Given the description of an element on the screen output the (x, y) to click on. 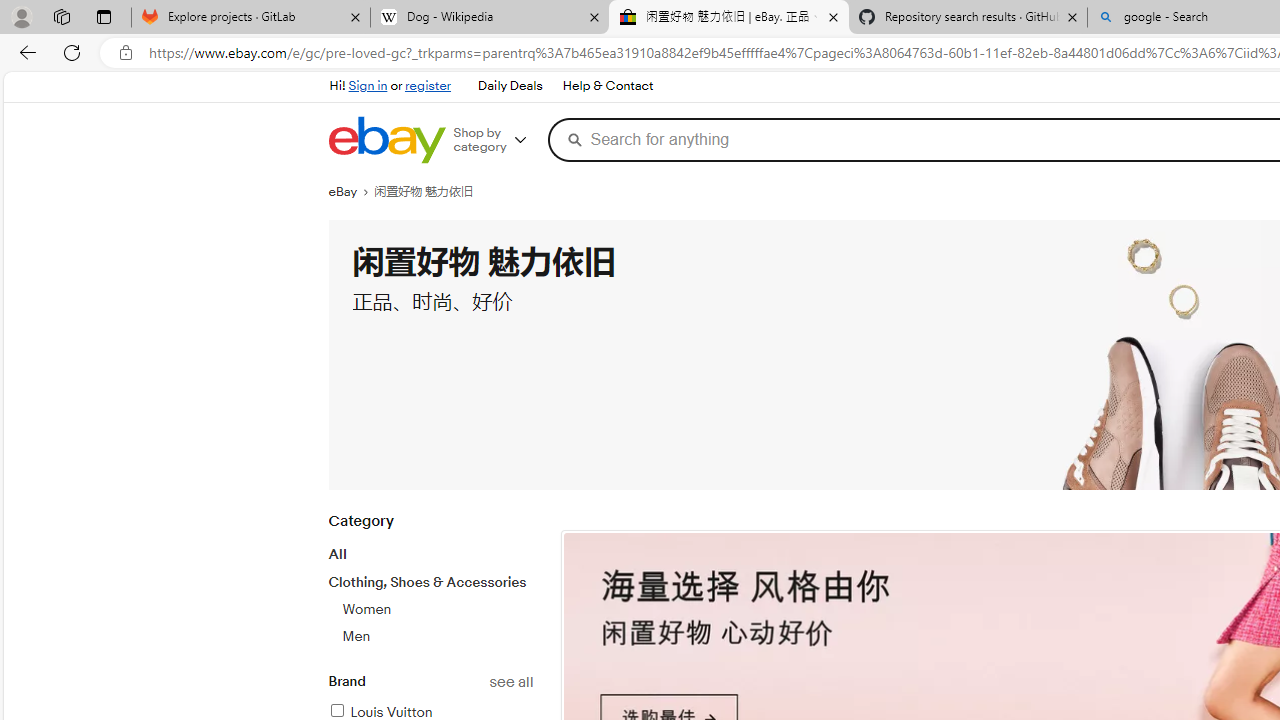
Women (437, 609)
All (336, 554)
eBay Home (386, 139)
Dog - Wikipedia (490, 17)
Clothing, Shoes & AccessoriesWomenMen (430, 609)
Sign in (367, 85)
Men (356, 636)
CategoryAllClothing, Shoes & AccessoriesWomenMen (430, 590)
See all brand refinements (510, 682)
Shop by category (496, 140)
